Given the description of an element on the screen output the (x, y) to click on. 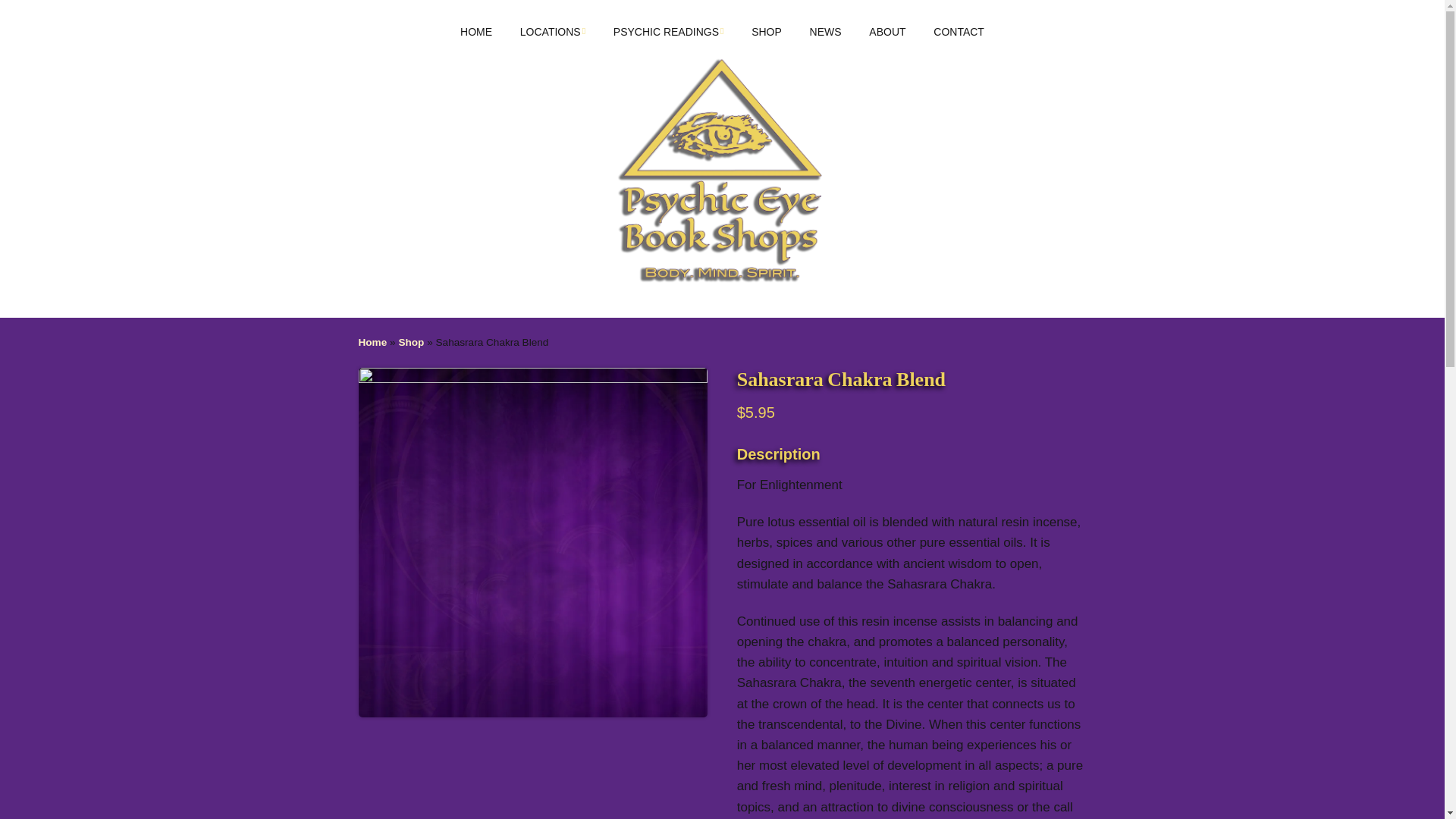
LOCATIONS (552, 32)
SHOP (766, 32)
CONTACT (958, 32)
Shop (410, 342)
PSYCHIC READINGS (668, 32)
NEWS (825, 32)
HOME (475, 32)
Home (372, 342)
ABOUT (887, 32)
